Given the description of an element on the screen output the (x, y) to click on. 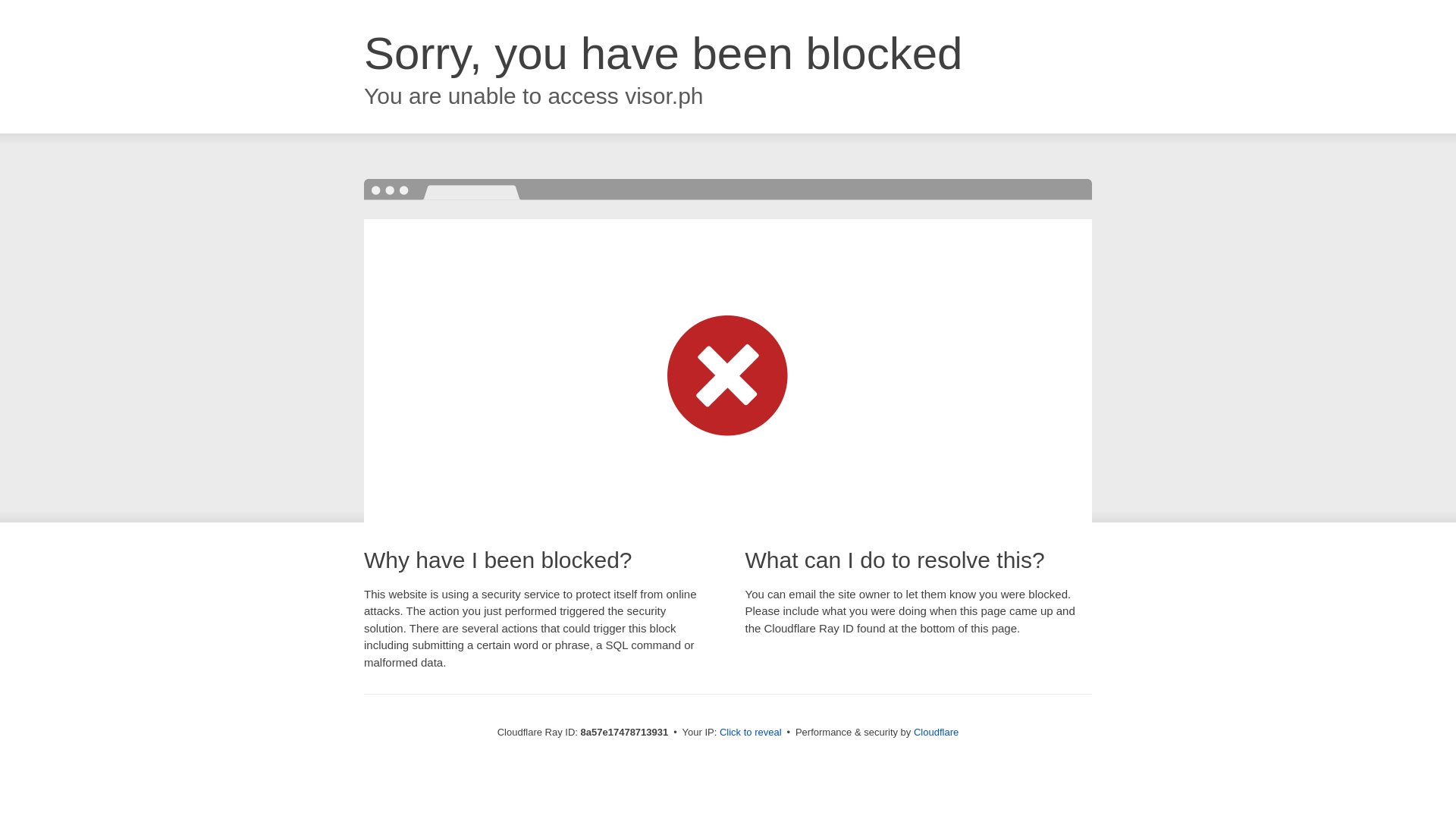
Click to reveal (750, 732)
Cloudflare (936, 731)
